Given the description of an element on the screen output the (x, y) to click on. 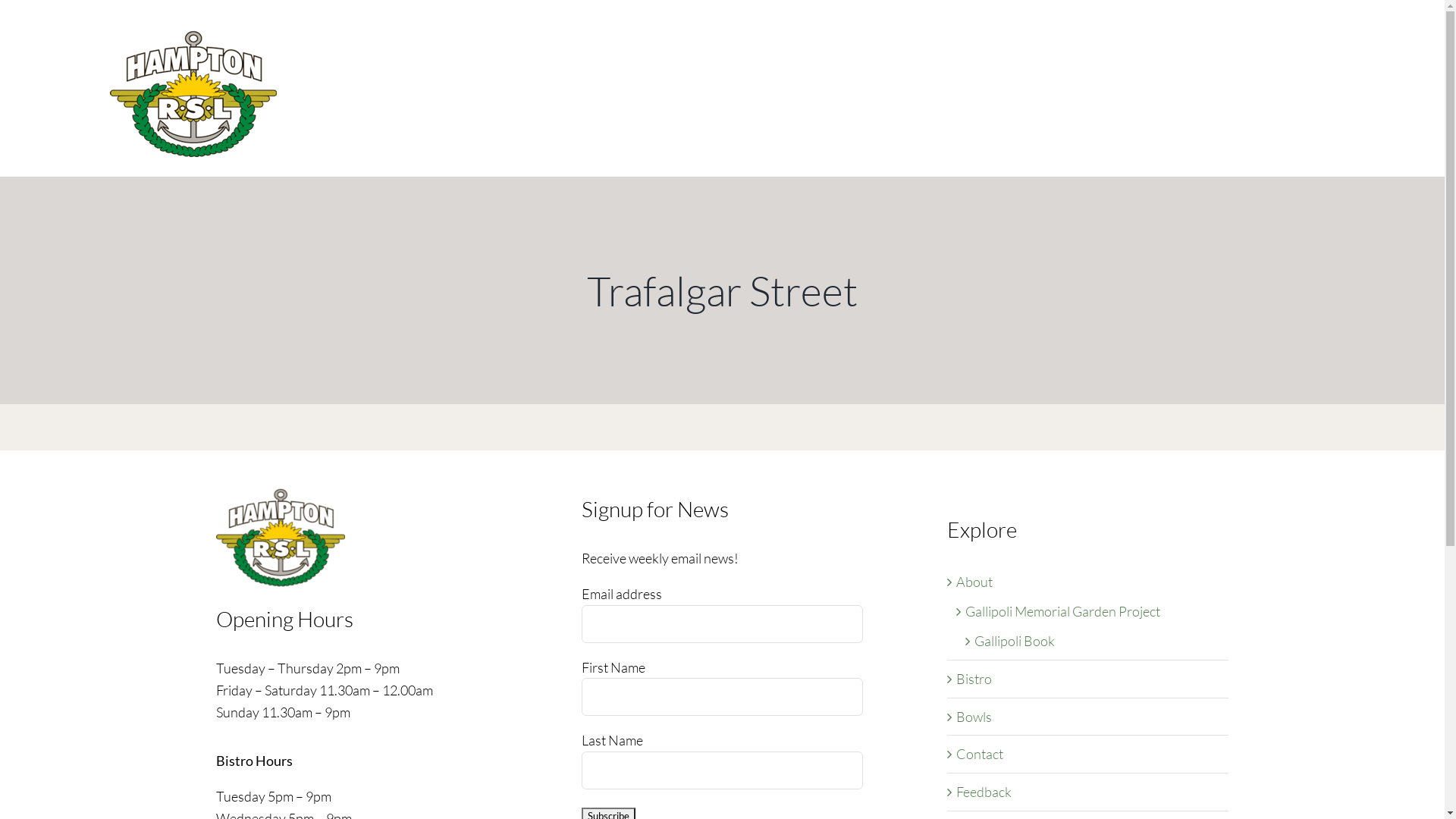
Bistro Element type: text (973, 678)
About Element type: text (974, 581)
Gallipoli Memorial Garden Project Element type: text (1062, 610)
ABOUT Element type: text (1241, 35)
BOWLS Element type: text (1040, 35)
Contact Element type: text (979, 753)
Gallipoli Book Element type: text (1014, 640)
HOME Element type: text (841, 35)
BISTRO Element type: text (900, 35)
CONTACT Element type: text (1307, 35)
SNOOKER Element type: text (971, 35)
Feedback Element type: text (983, 791)
NEWS Element type: text (1184, 35)
Bowls Element type: text (973, 716)
Hamton-rsl-logom@2 Element type: hover (280, 537)
